Given the description of an element on the screen output the (x, y) to click on. 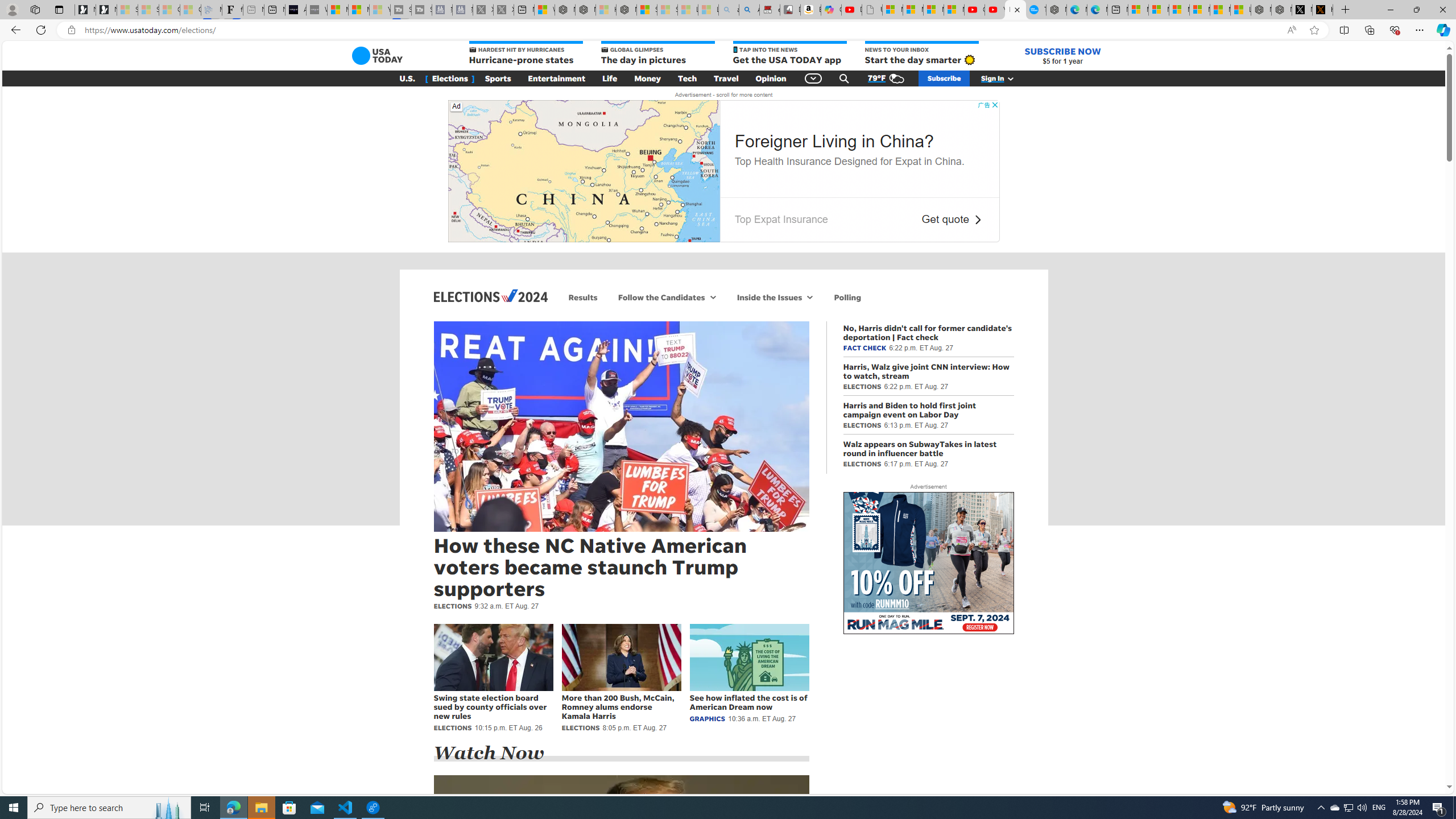
Microsoft account | Microsoft Account Privacy Settings (1158, 9)
AI Voice Changer for PC and Mac - Voice.ai (296, 9)
U.S. (406, 78)
Class: gnt_n_us_a_svg (1008, 78)
More Follow the Candidates navigation (712, 296)
Search (844, 78)
Untitled (871, 9)
Subscribe (943, 78)
